Given the description of an element on the screen output the (x, y) to click on. 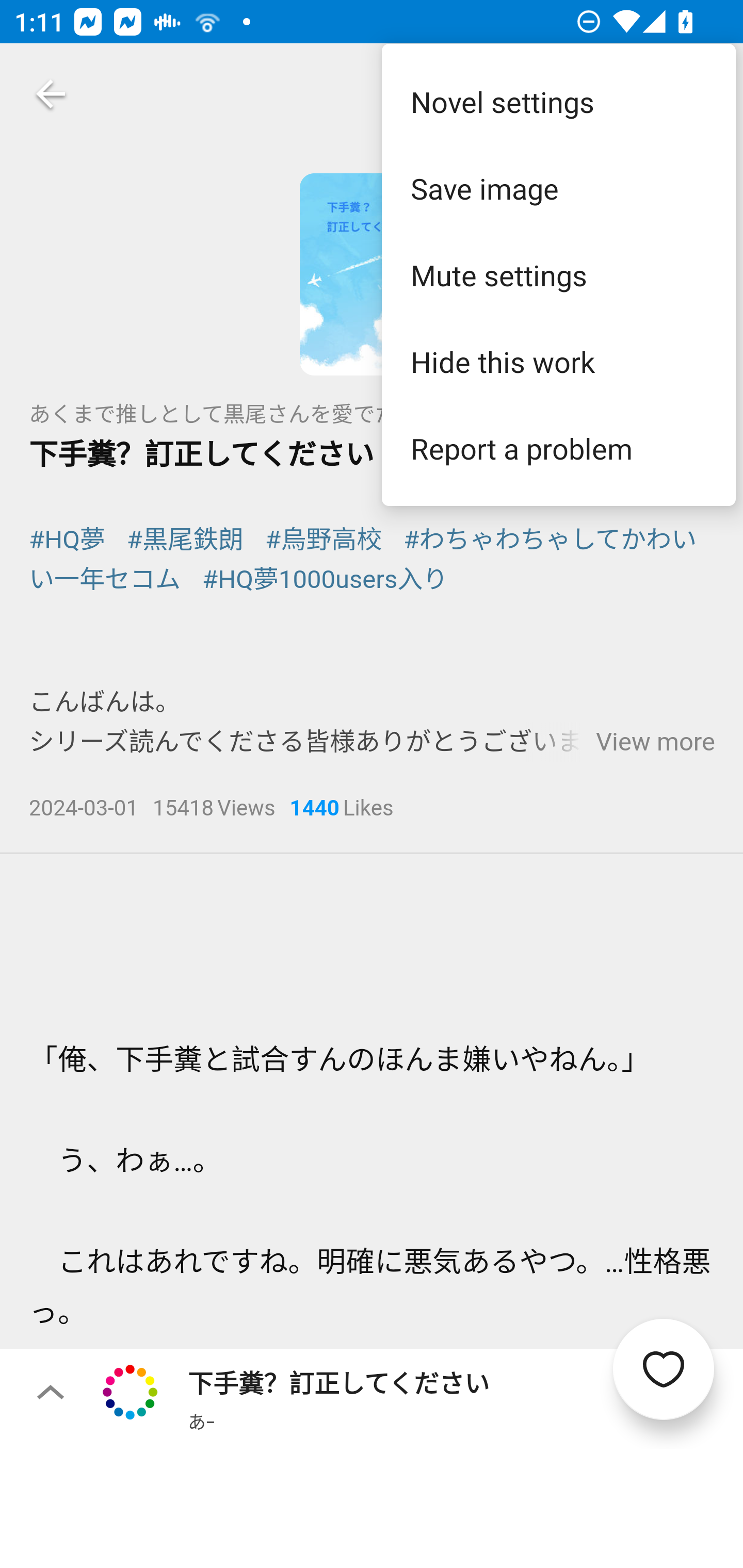
Novel settings (558, 101)
Save image (558, 188)
Mute settings (558, 275)
Hide this work (558, 361)
Report a problem (558, 447)
